Given the description of an element on the screen output the (x, y) to click on. 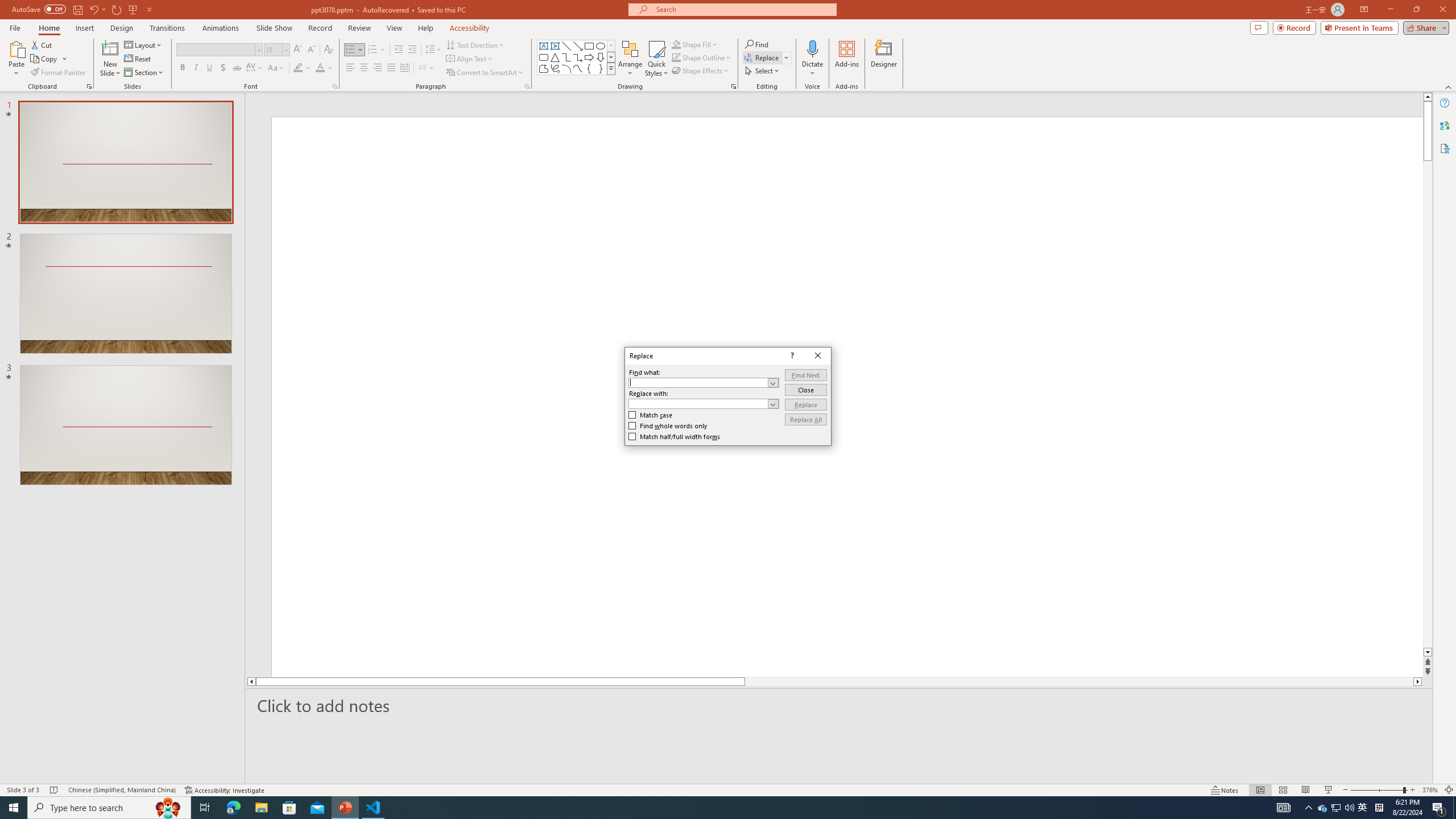
Replace with (703, 403)
Match half/full width forms (674, 436)
